Given the description of an element on the screen output the (x, y) to click on. 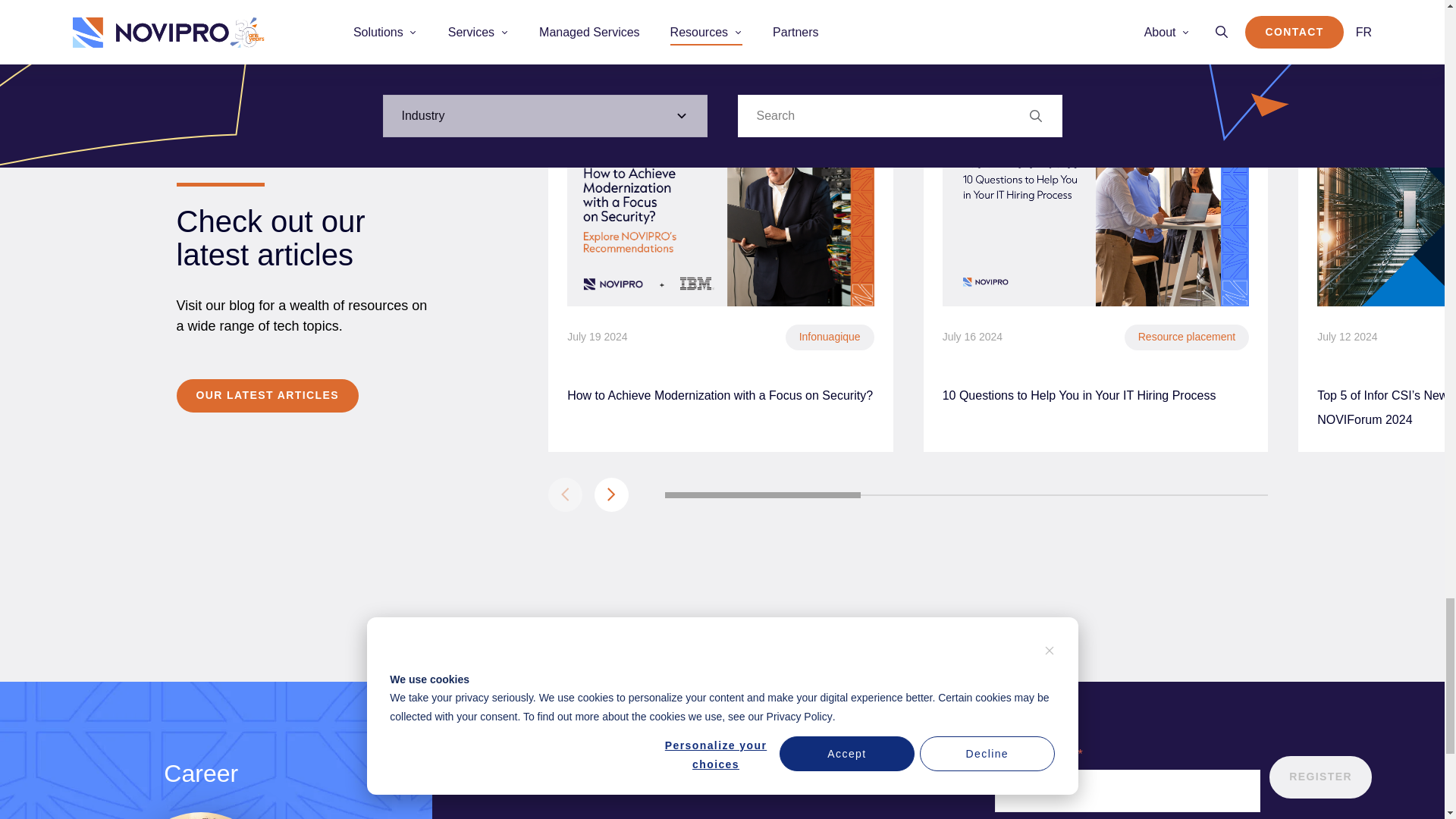
youtube (1352, 681)
10 Questions to Help You in Your IT Hiring Process (1095, 85)
Register (1320, 496)
twitter (1170, 681)
linkedin (1291, 681)
How to Achieve Modernization with a Focus on Security? (720, 85)
facebook (1231, 681)
